Given the description of an element on the screen output the (x, y) to click on. 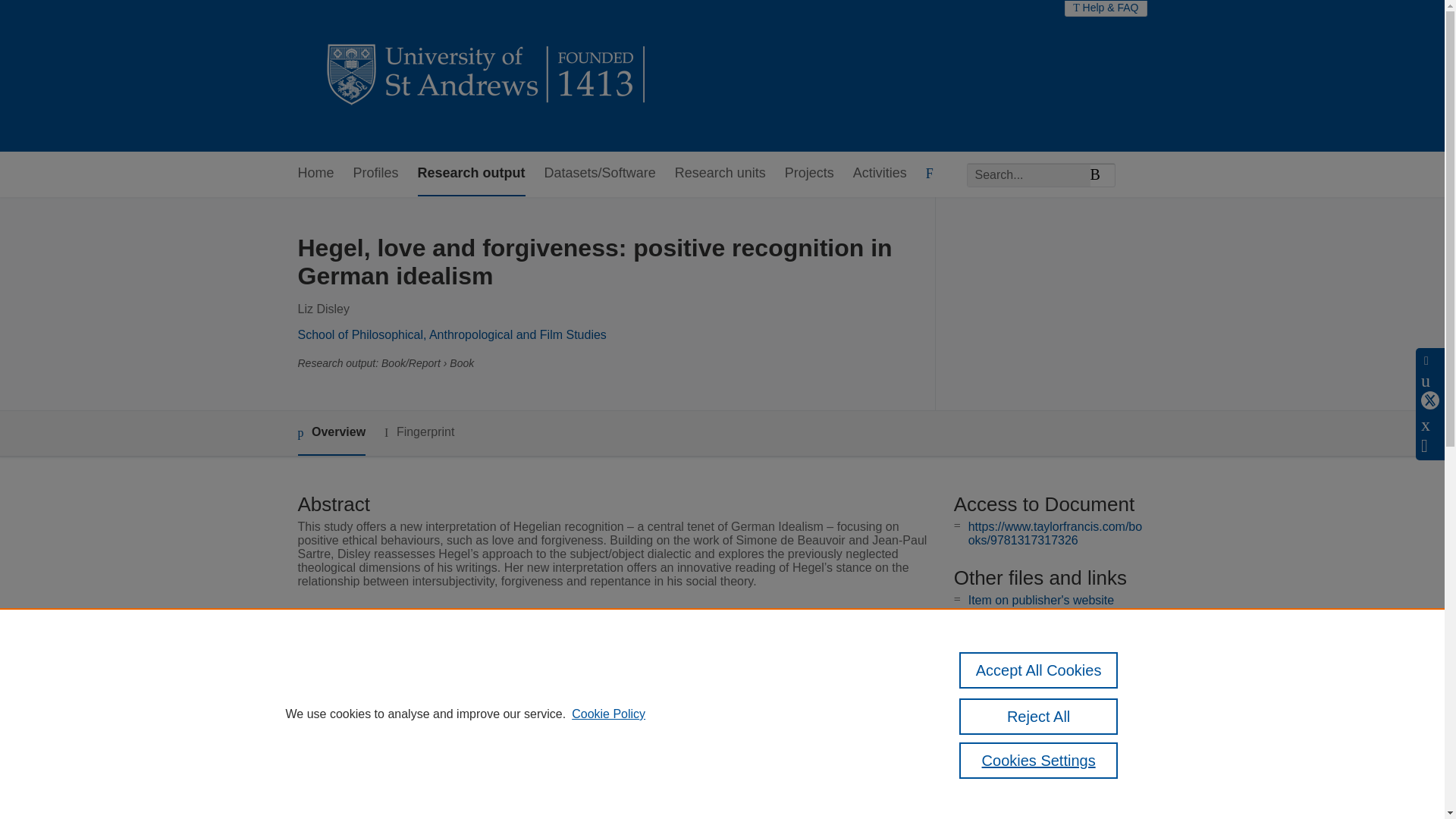
Fingerprint (419, 432)
Item on publisher's website (1040, 599)
Overview (331, 433)
Research output (471, 173)
Research units (720, 173)
Activities (880, 173)
Pickering and Chatto (566, 654)
Item in national catalogue (1037, 625)
School of Philosophical, Anthropological and Film Studies (451, 334)
Projects (809, 173)
Profiles (375, 173)
University of St Andrews Research Portal Home (487, 75)
